Given the description of an element on the screen output the (x, y) to click on. 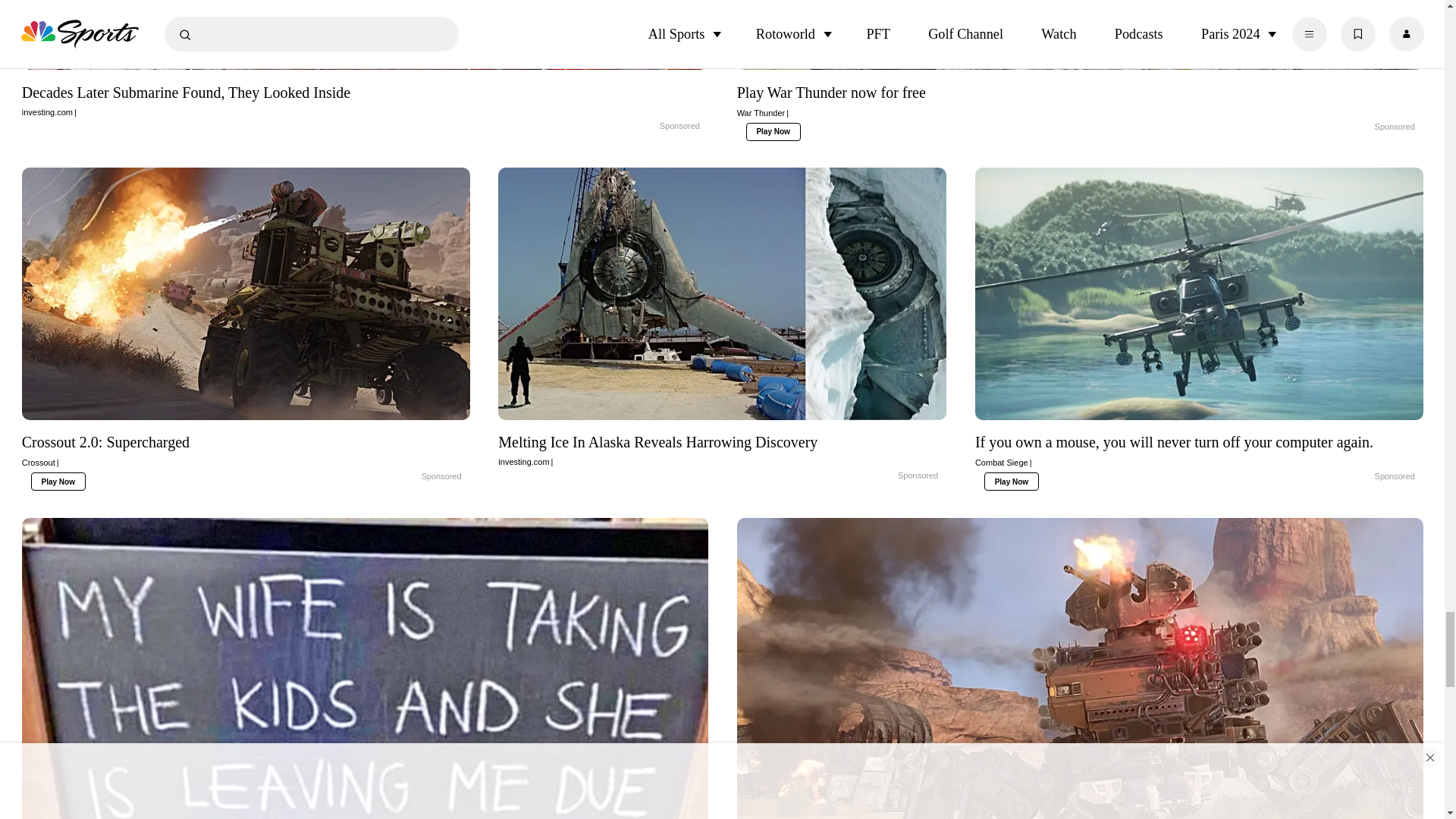
Decades Later Submarine Found, They Looked Inside (364, 39)
Decades Later Submarine Found, They Looked Inside (643, 126)
Decades Later Submarine Found, They Looked Inside (364, 99)
